Given the description of an element on the screen output the (x, y) to click on. 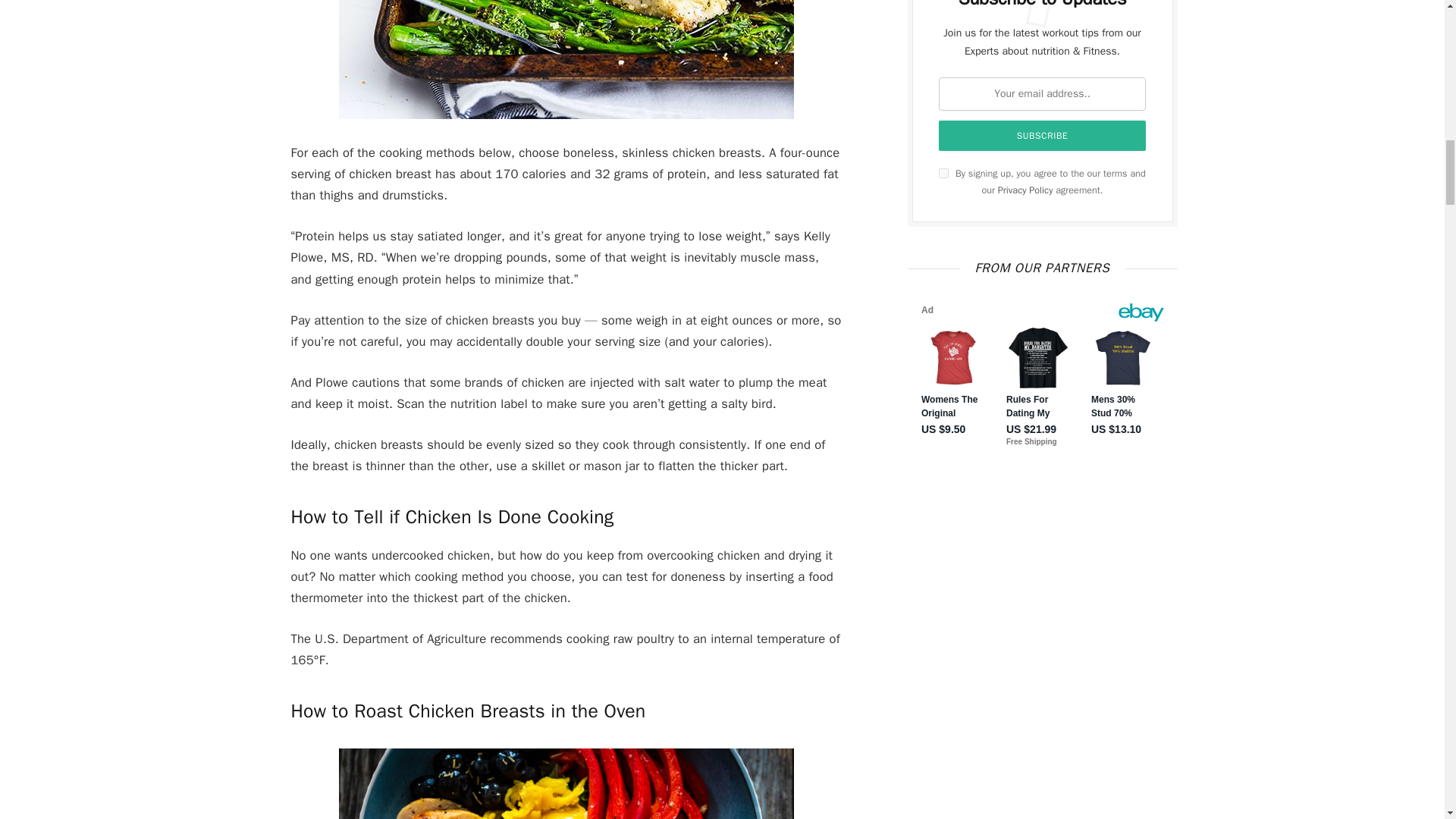
Subscribe (1043, 135)
on (944, 173)
